Given the description of an element on the screen output the (x, y) to click on. 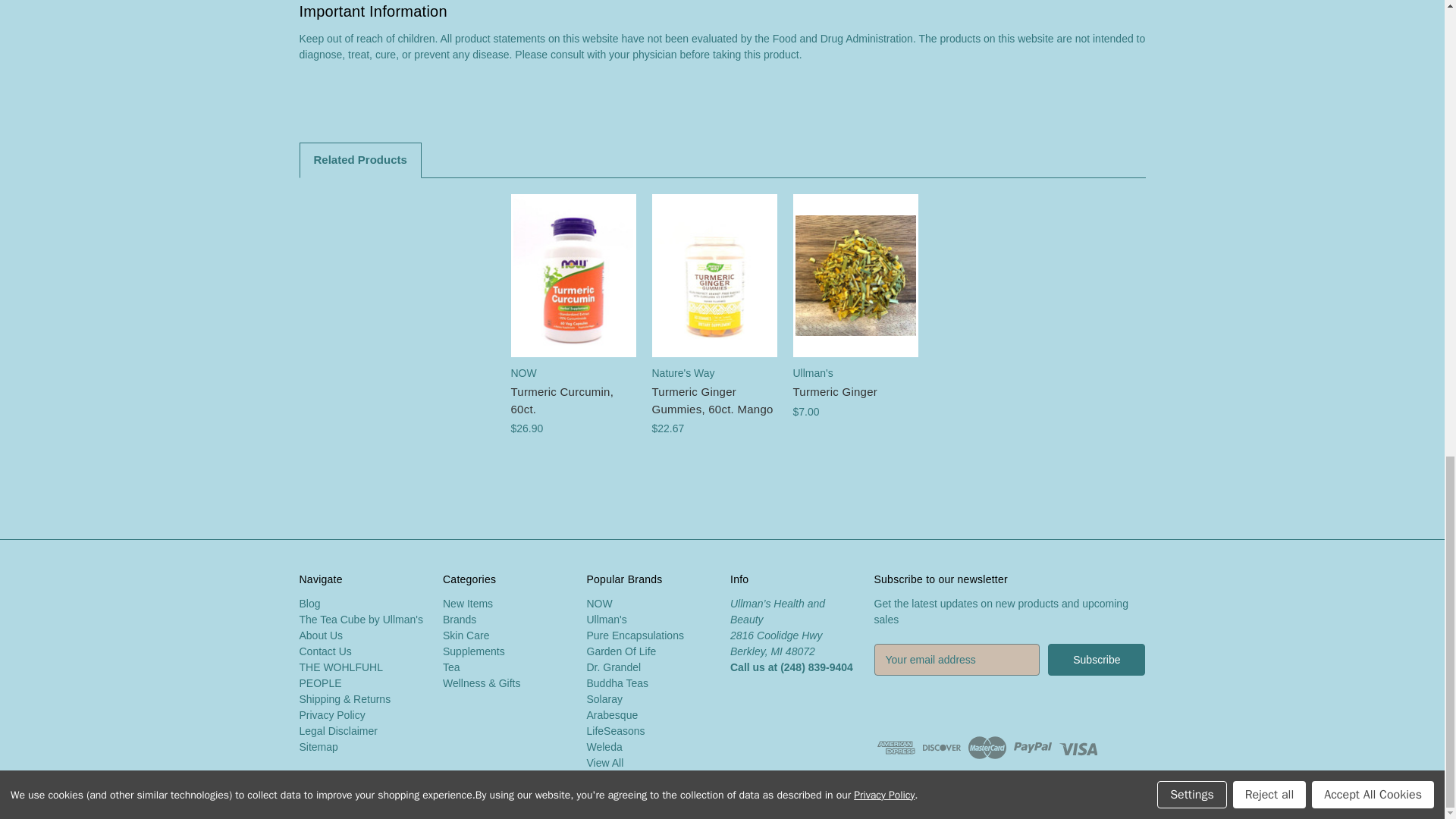
Ullmans Turmeric Ginger (854, 275)
Subscribe (1096, 659)
